Given the description of an element on the screen output the (x, y) to click on. 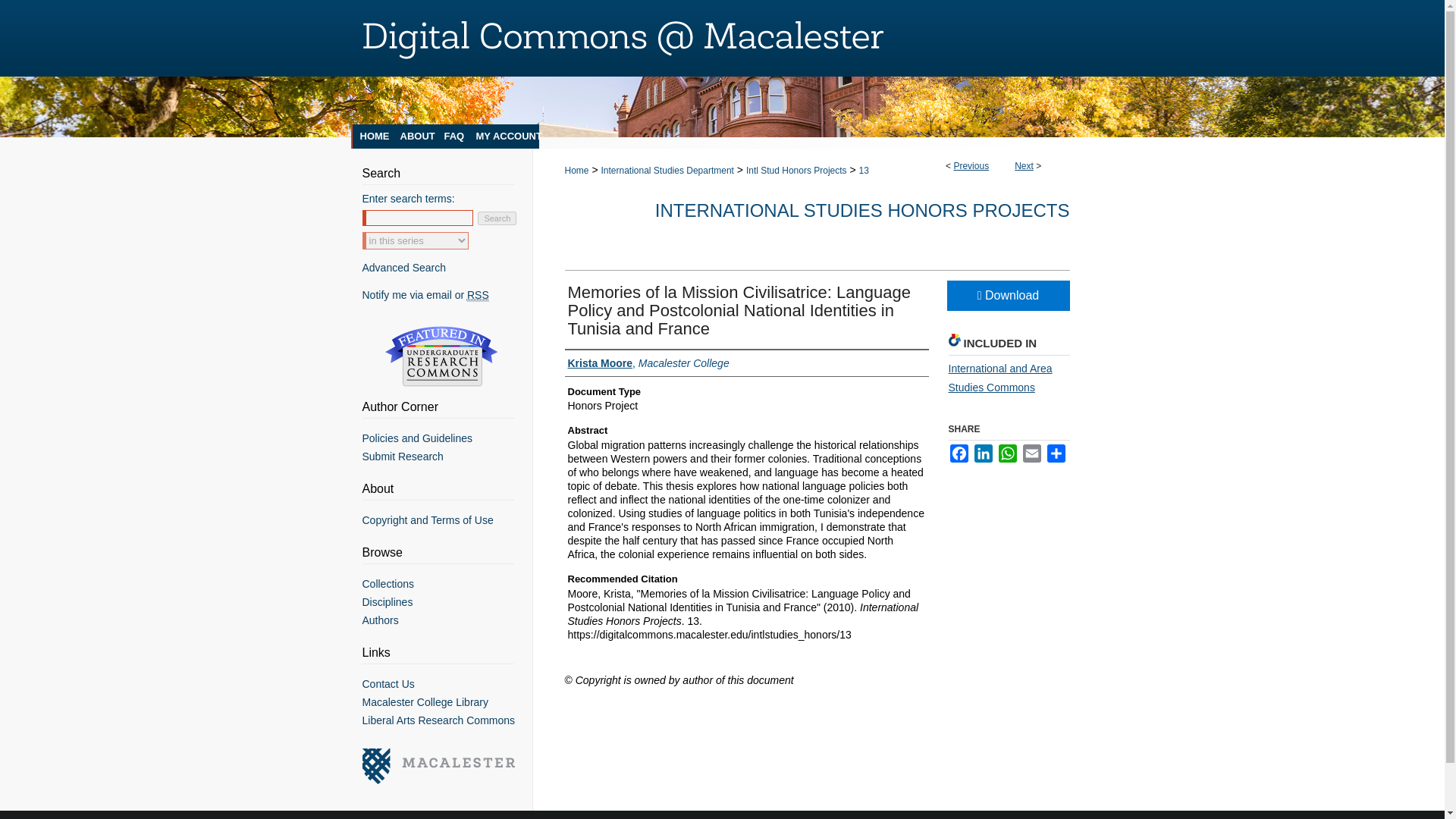
LinkedIn (982, 453)
International and Area Studies Commons (999, 377)
Email (1031, 453)
Intl Stud Honors Projects (796, 170)
Notify me via email or RSS (447, 295)
Search (496, 218)
Collections (447, 583)
Undergraduate Research Commons (440, 355)
Download (1007, 295)
Submit Research (447, 456)
About (414, 136)
Krista Moore, Macalester College (648, 363)
Search (496, 218)
Undergraduate Research Commons (440, 355)
